Given the description of an element on the screen output the (x, y) to click on. 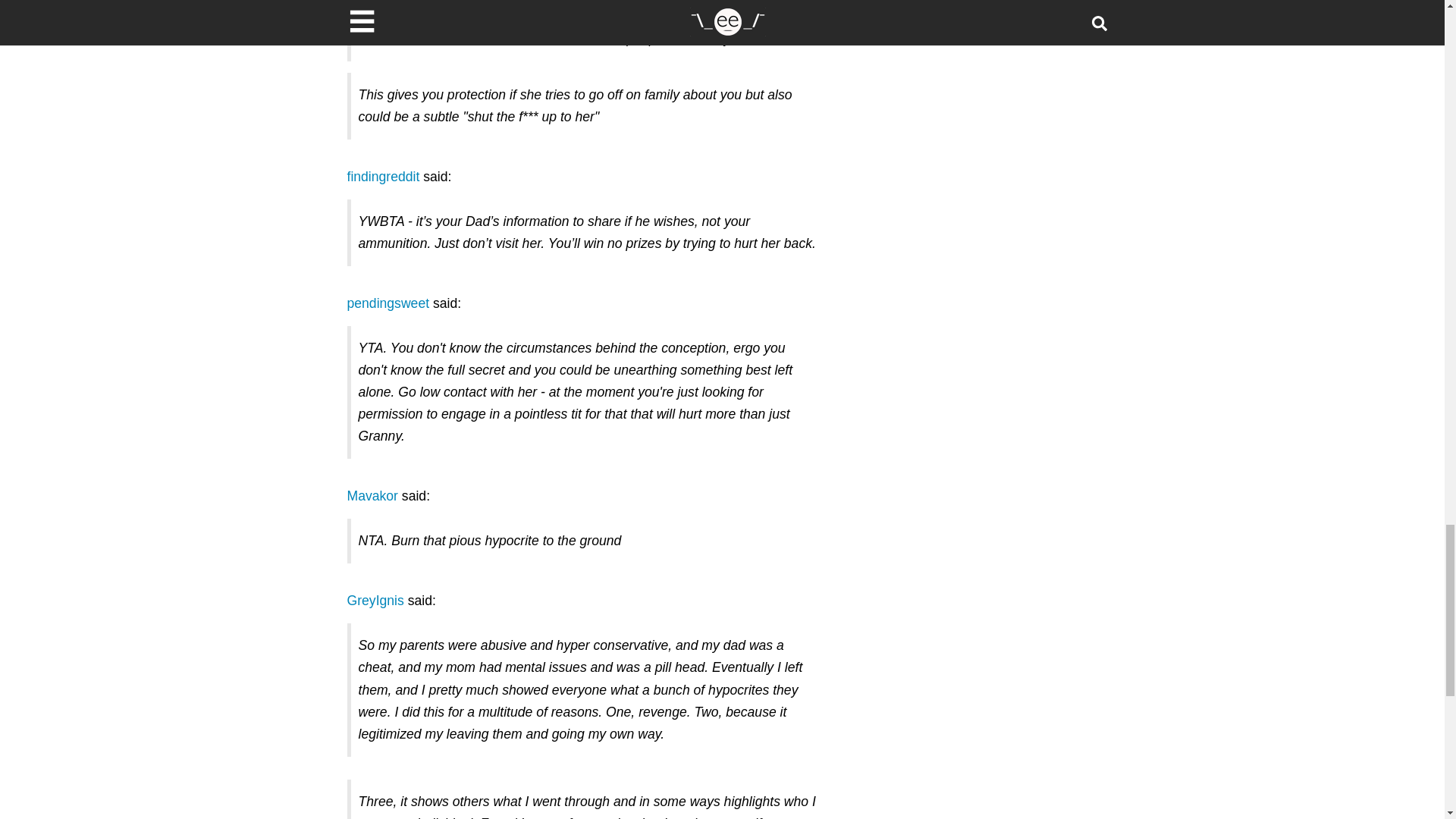
GreyIgnis (375, 600)
Mavakor (372, 495)
pendingsweet (388, 303)
findingreddit (383, 176)
